Given the description of an element on the screen output the (x, y) to click on. 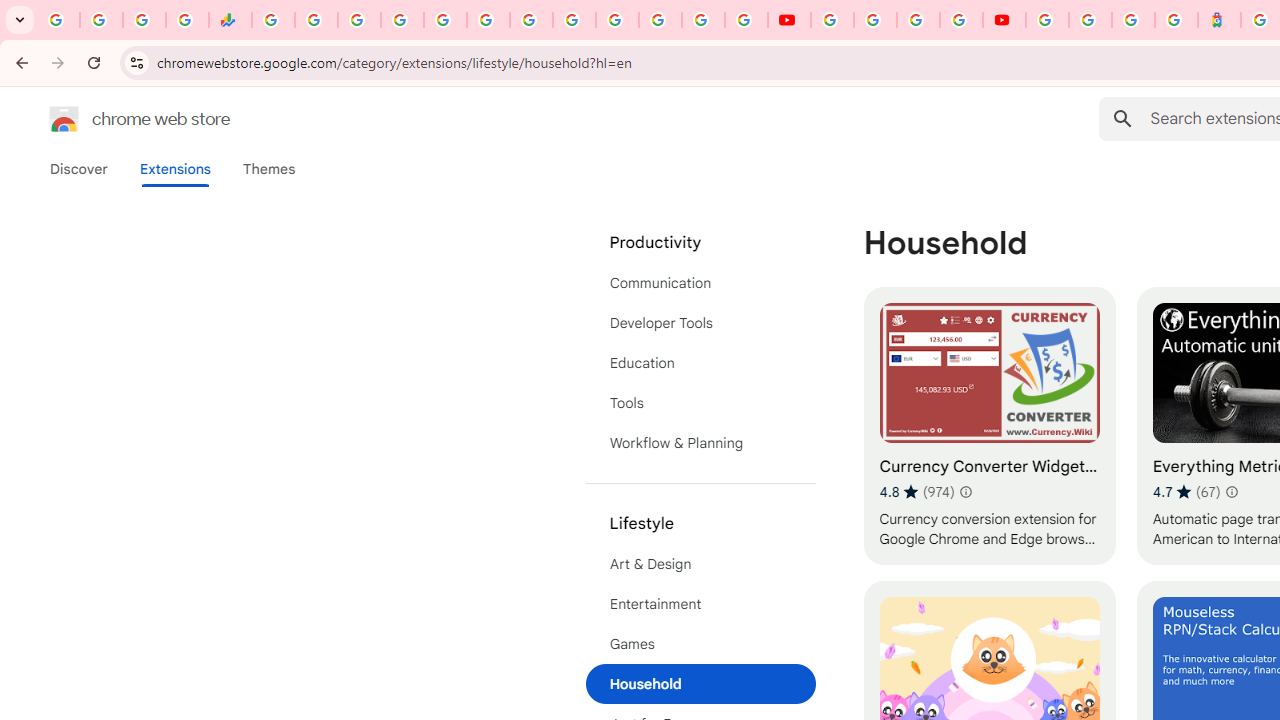
Chrome Web Store logo (63, 118)
Tools (700, 403)
Sign in - Google Accounts (1090, 20)
Sign in - Google Accounts (1047, 20)
Chrome Web Store logo chrome web store (118, 118)
Communication (700, 282)
Create your Google Account (918, 20)
